Given the description of an element on the screen output the (x, y) to click on. 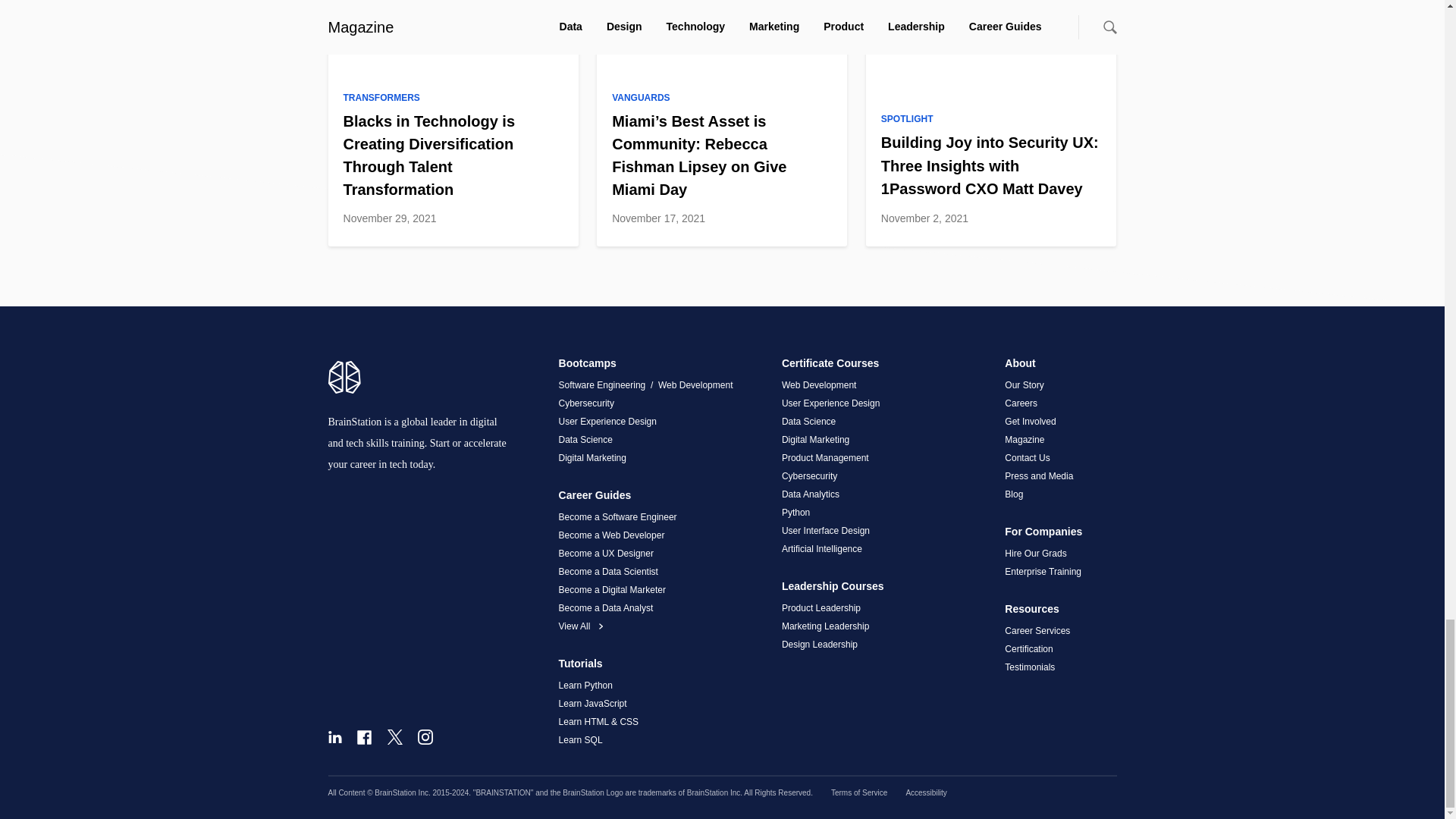
BrainStation Facebook (363, 737)
BrainStation X (394, 736)
BrainStation Instagram (424, 736)
BrainStation LinkedIn (333, 736)
